Given the description of an element on the screen output the (x, y) to click on. 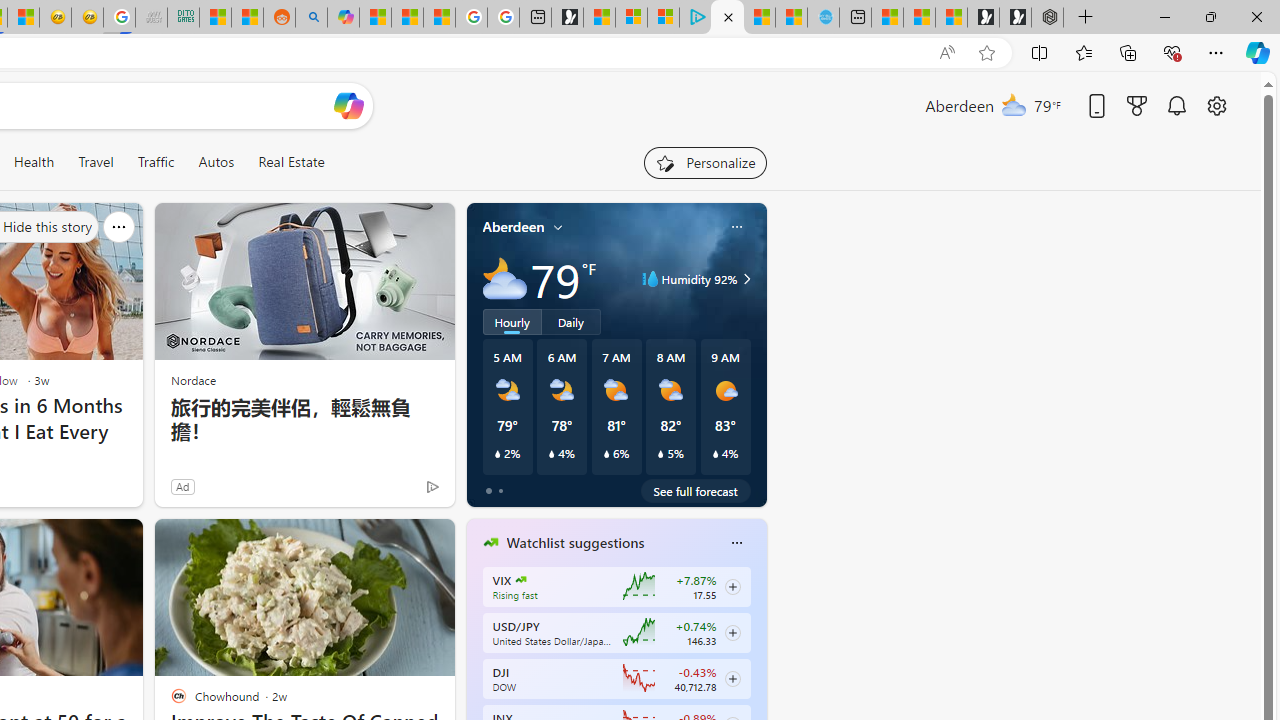
Play Free Online Games | Games from Microsoft Start (1014, 17)
Read aloud this page (Ctrl+Shift+U) (946, 53)
Utah sues federal government - Search (310, 17)
Watchlist suggestions (575, 543)
Class: weather-current-precipitation-glyph (715, 453)
CBOE Market Volatility Index (520, 579)
See more (429, 542)
More options (736, 543)
Real Estate (291, 161)
Open Copilot (347, 105)
